Given the description of an element on the screen output the (x, y) to click on. 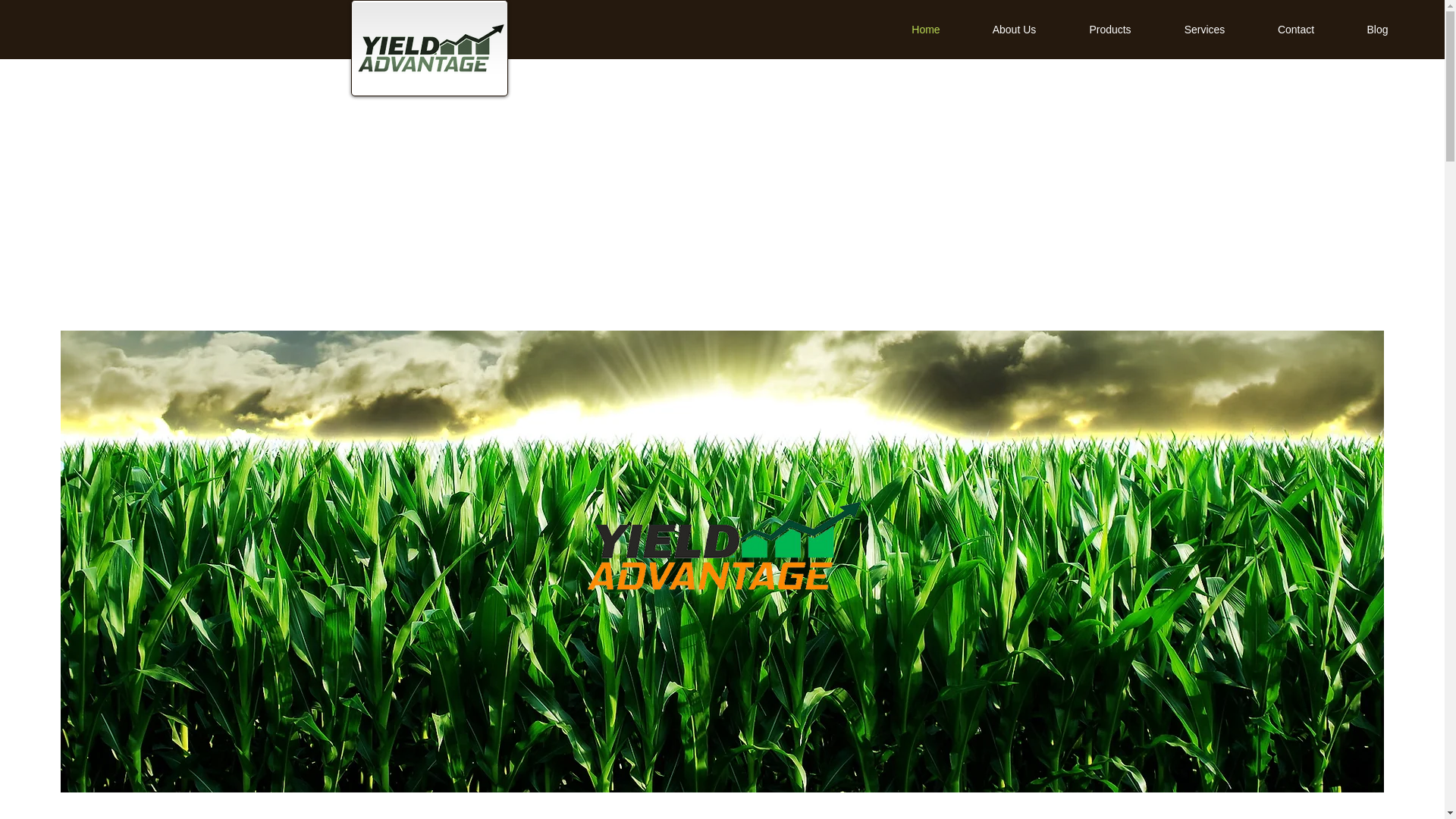
Blog (1376, 29)
Contact (1295, 29)
About Us (1014, 29)
Services (1203, 29)
Home (925, 29)
Products (1109, 29)
